Given the description of an element on the screen output the (x, y) to click on. 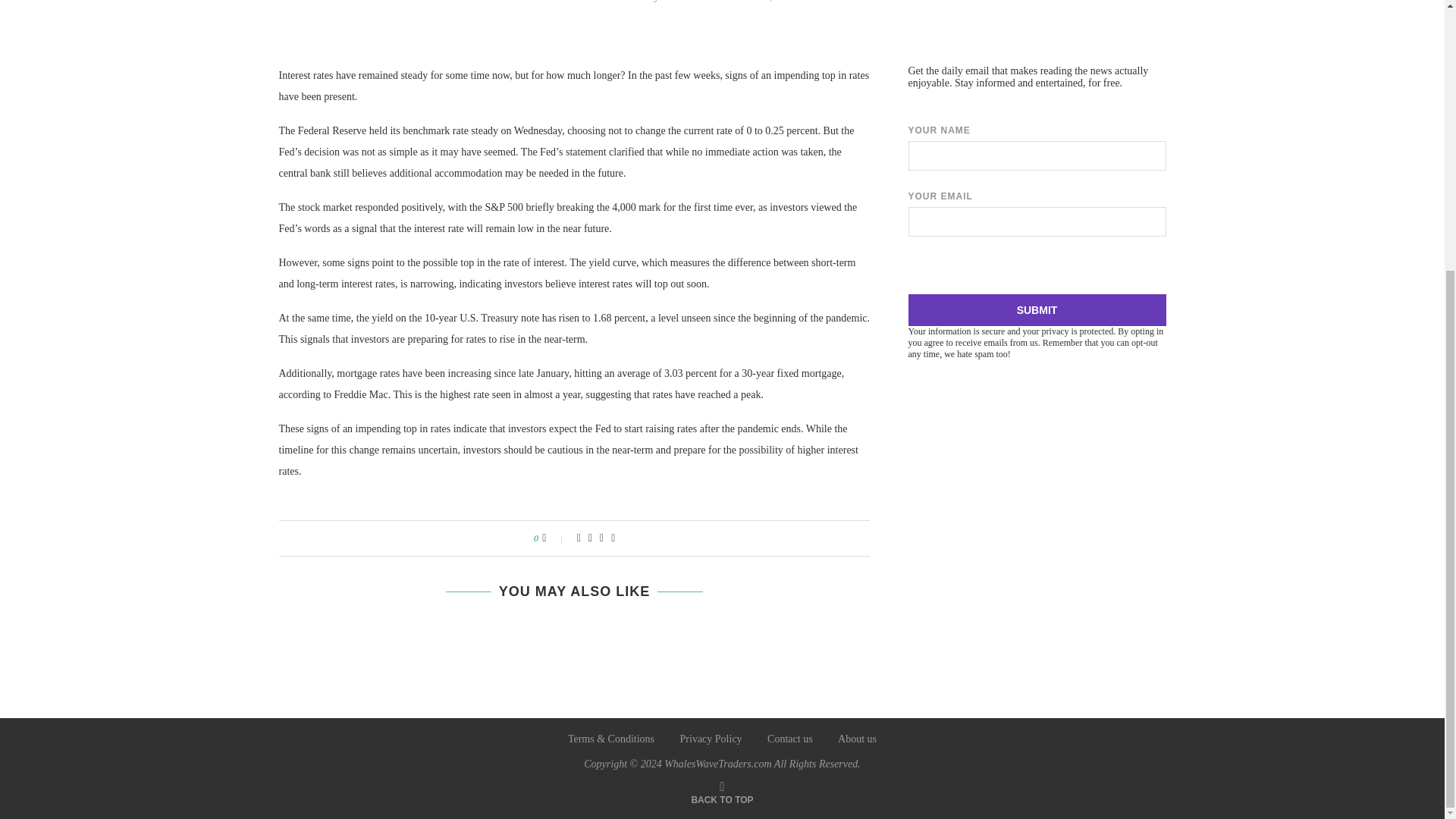
Like (553, 538)
Submit (1037, 309)
Admin (675, 1)
